Given the description of an element on the screen output the (x, y) to click on. 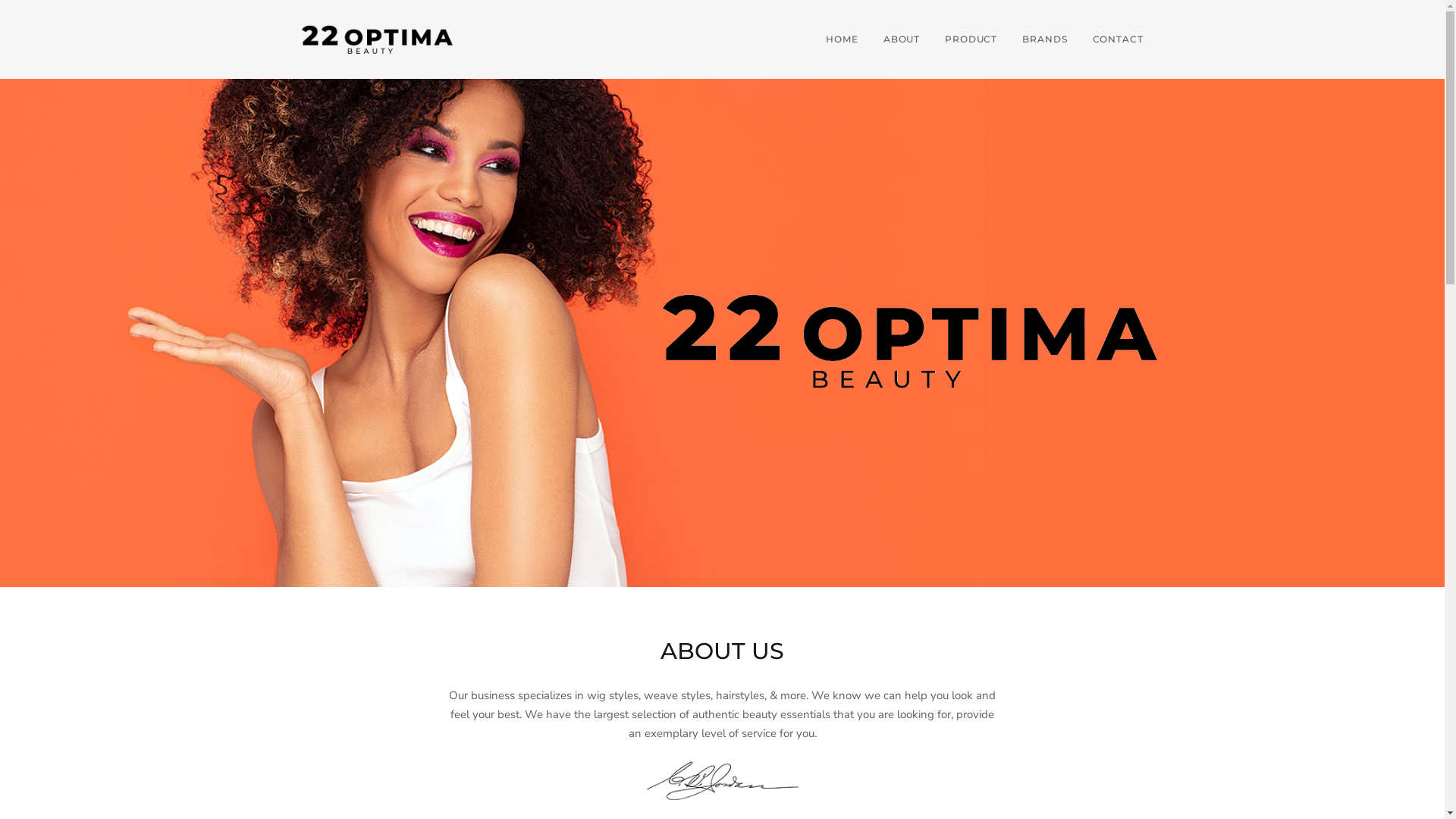
BRANDS Element type: text (1044, 39)
PRODUCT Element type: text (971, 39)
ABOUT Element type: text (901, 39)
CONTACT Element type: text (1111, 39)
HOME Element type: text (842, 39)
